Given the description of an element on the screen output the (x, y) to click on. 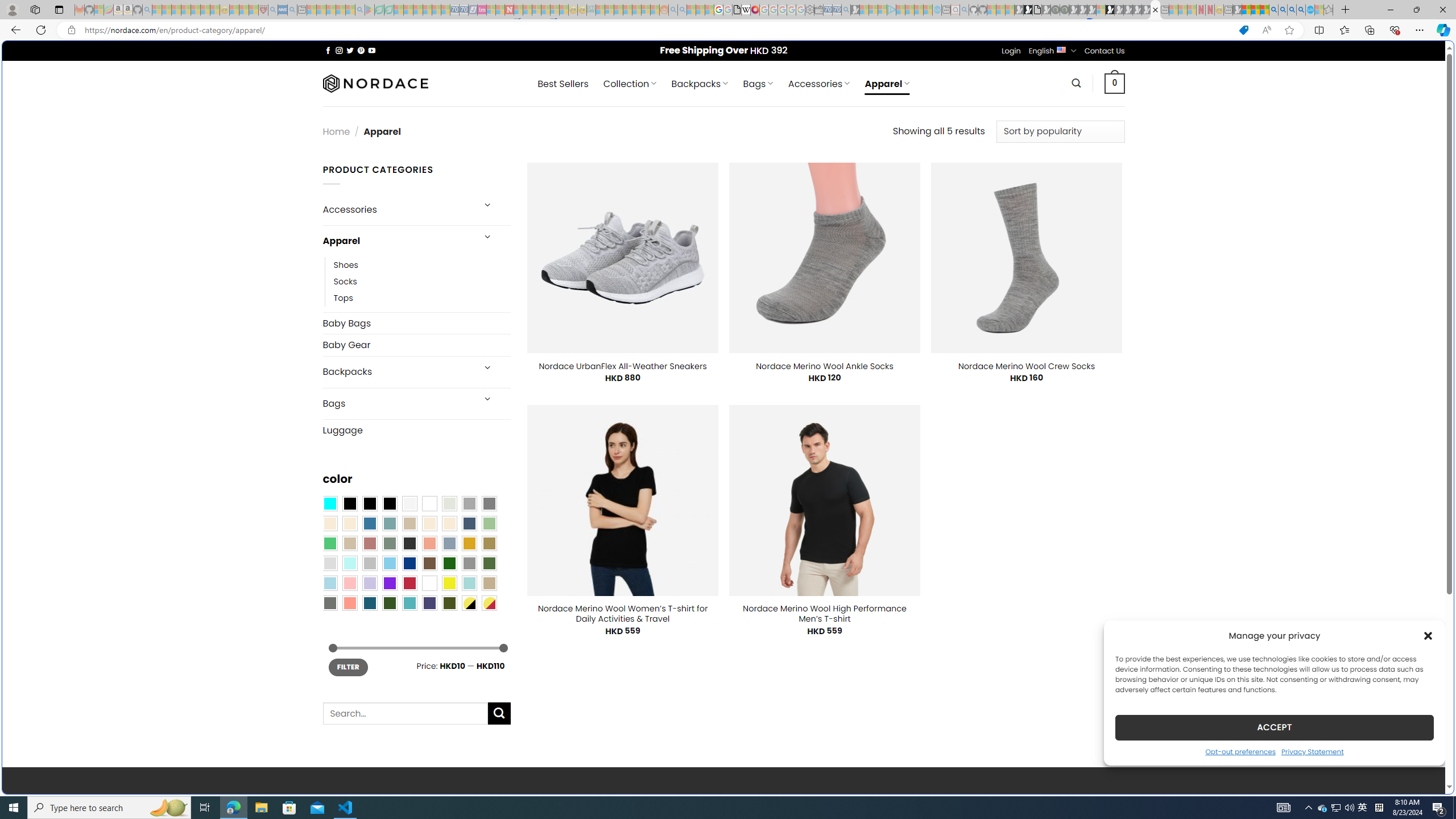
Accessories (397, 209)
Sky Blue (389, 562)
Black (369, 503)
Light Taupe (349, 542)
Tops (422, 297)
Login (1010, 50)
All Gray (488, 503)
Cheap Hotels - Save70.com - Sleeping (463, 9)
Future Focus Report 2024 - Sleeping (1064, 9)
 Best Sellers (562, 83)
